Given the description of an element on the screen output the (x, y) to click on. 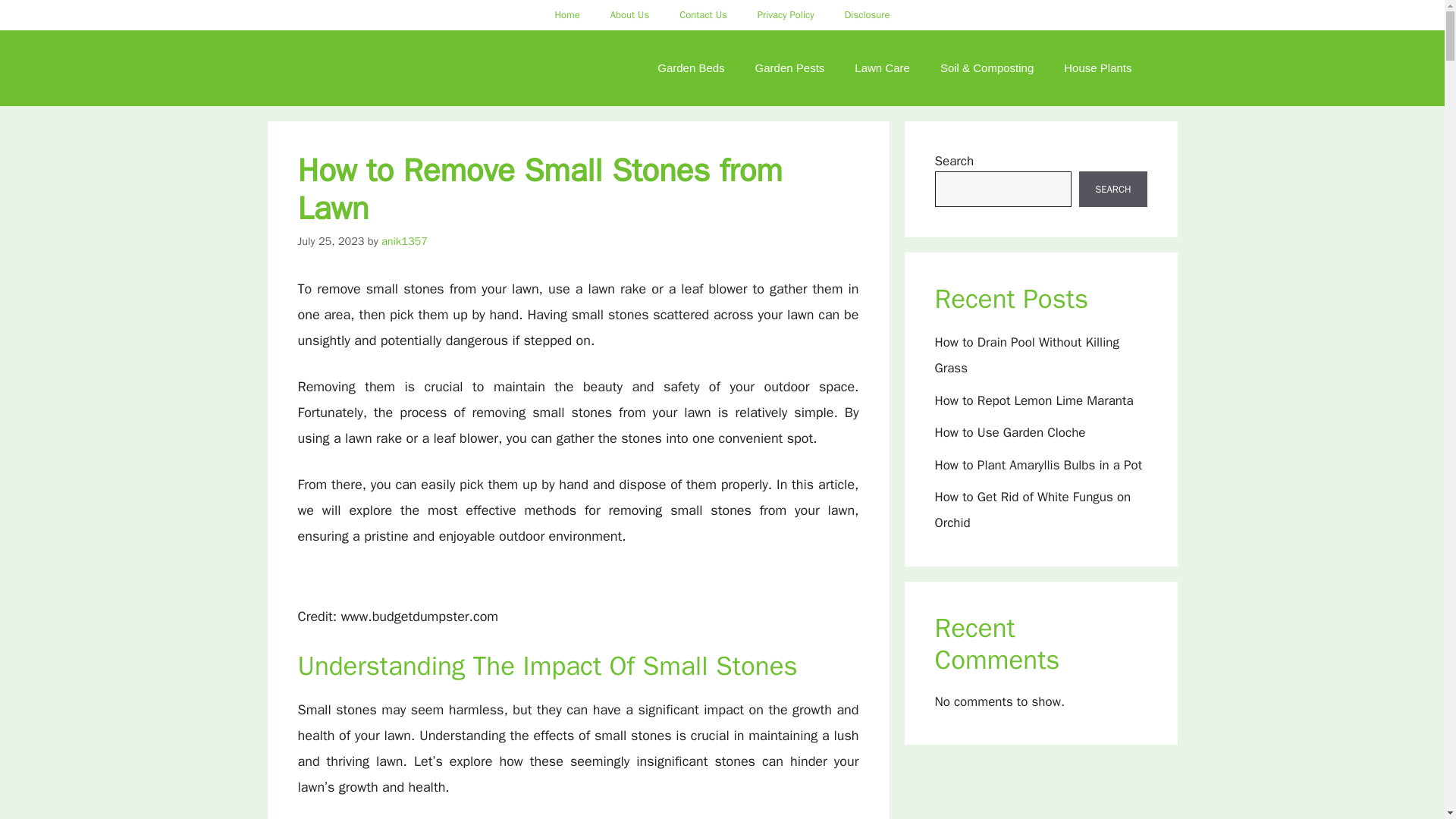
SEARCH (1112, 189)
How to Get Rid of White Fungus on Orchid (1032, 509)
How to Repot Lemon Lime Maranta (1033, 400)
About Us (629, 15)
Garden Pests (789, 67)
anik1357 (404, 241)
Garden Beds (690, 67)
How to Plant Amaryllis Bulbs in a Pot (1037, 464)
Disclosure (867, 15)
How to Use Garden Cloche (1009, 432)
